Given the description of an element on the screen output the (x, y) to click on. 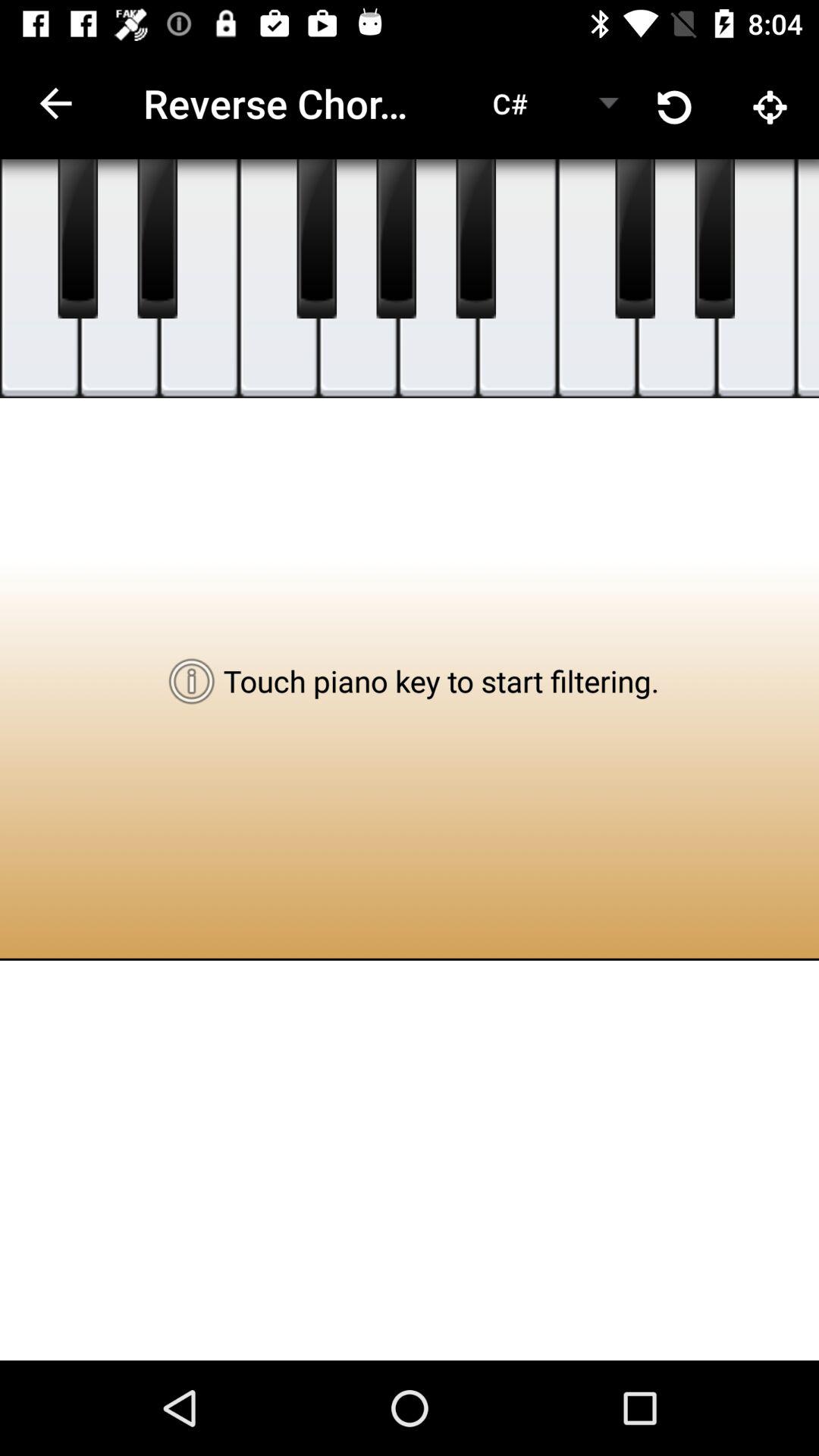
choose the icon below c# item (437, 278)
